Given the description of an element on the screen output the (x, y) to click on. 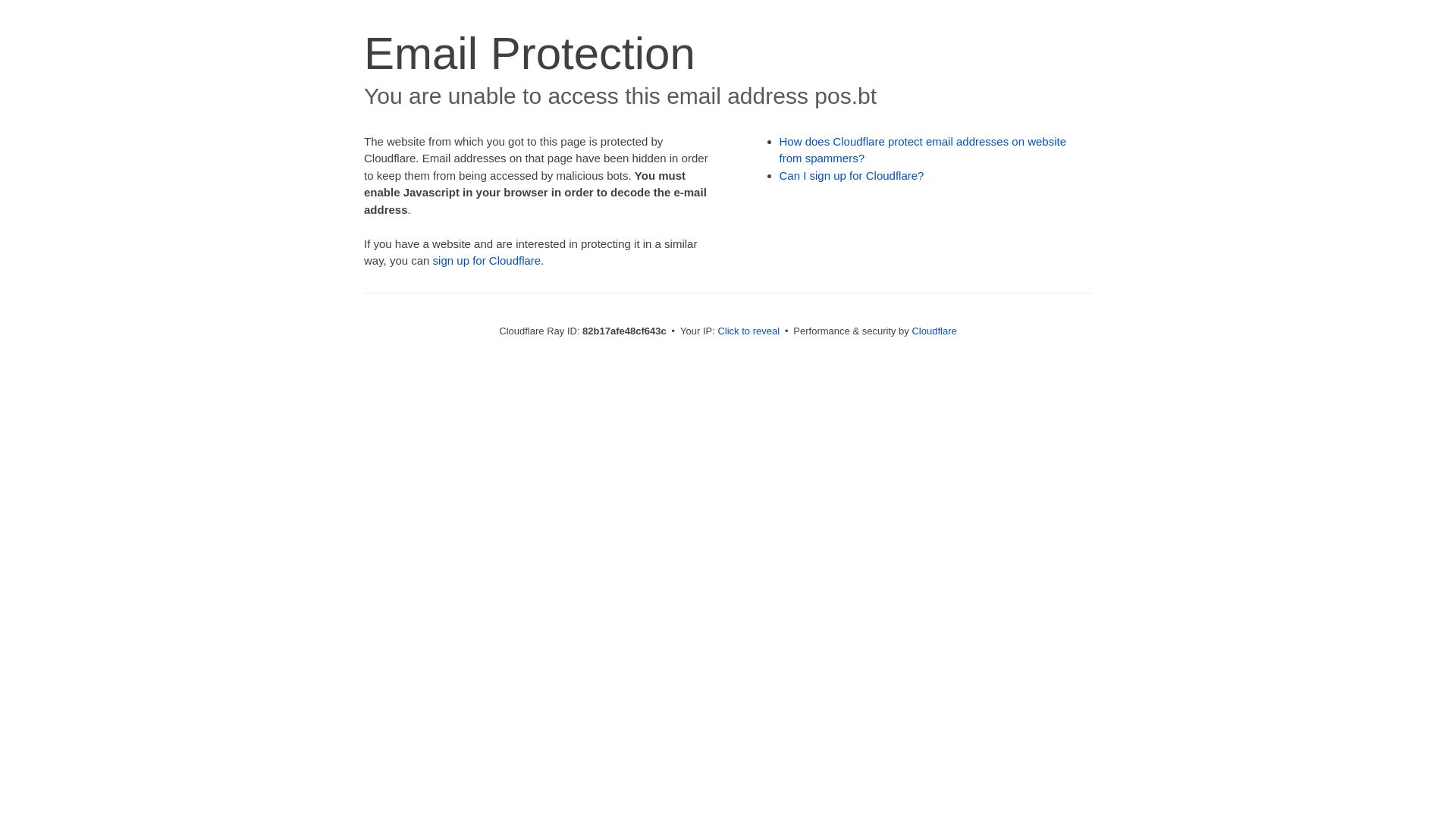
Click to reveal Element type: text (748, 330)
Can I sign up for Cloudflare? Element type: text (851, 175)
Cloudflare Element type: text (933, 330)
sign up for Cloudflare Element type: text (487, 260)
